Given the description of an element on the screen output the (x, y) to click on. 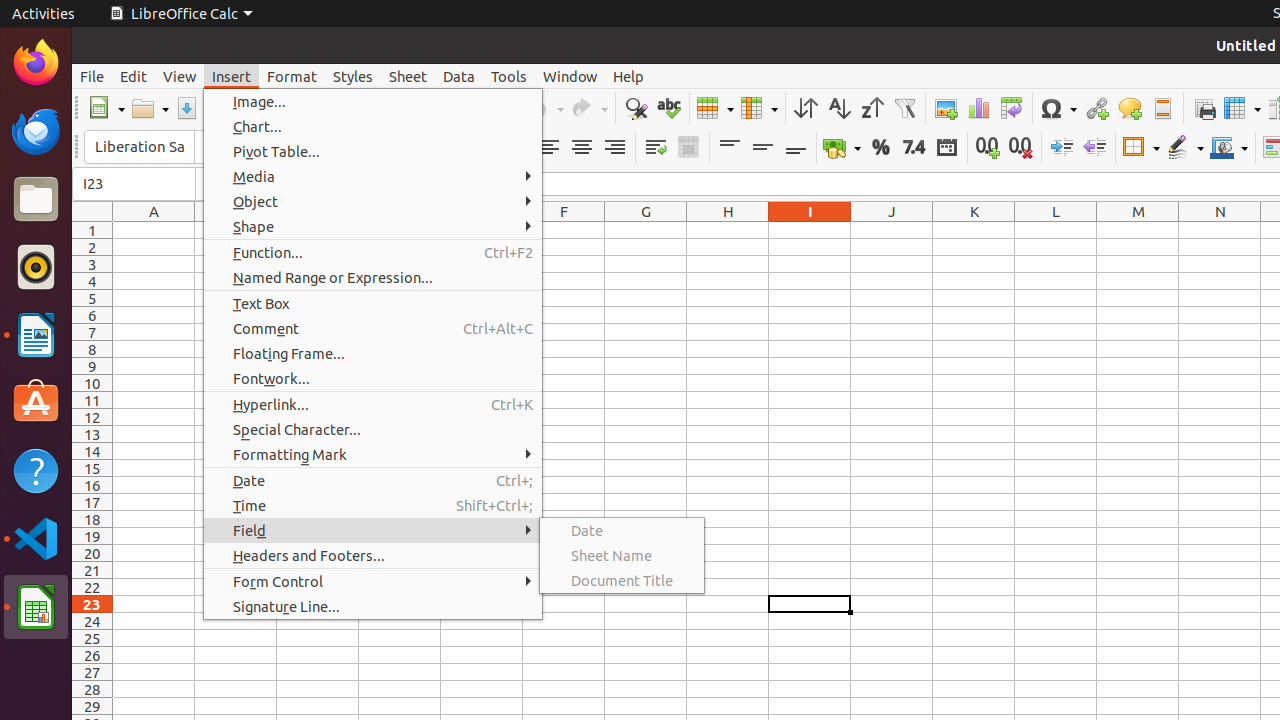
Pivot Table Element type: push-button (1011, 108)
AutoFilter Element type: push-button (904, 108)
Decrease Element type: push-button (1094, 147)
Border Color Element type: push-button (1229, 147)
Name Box Element type: text (133, 184)
